Given the description of an element on the screen output the (x, y) to click on. 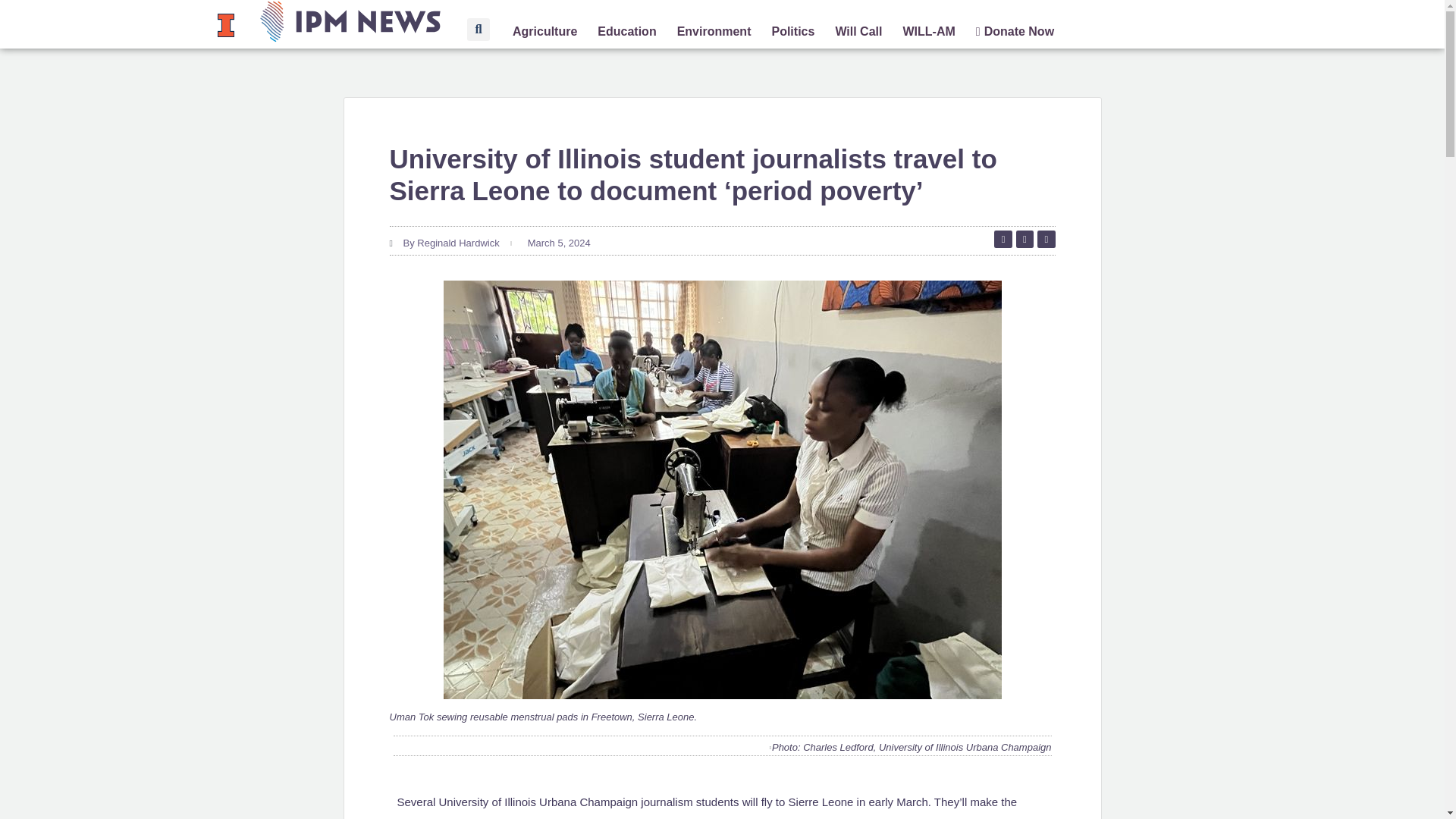
Environment (714, 31)
Agriculture (544, 31)
Politics (792, 31)
Education (626, 31)
Donate Now (1014, 31)
March 5, 2024 (556, 242)
Will Call (858, 31)
WILL-AM (928, 31)
